Given the description of an element on the screen output the (x, y) to click on. 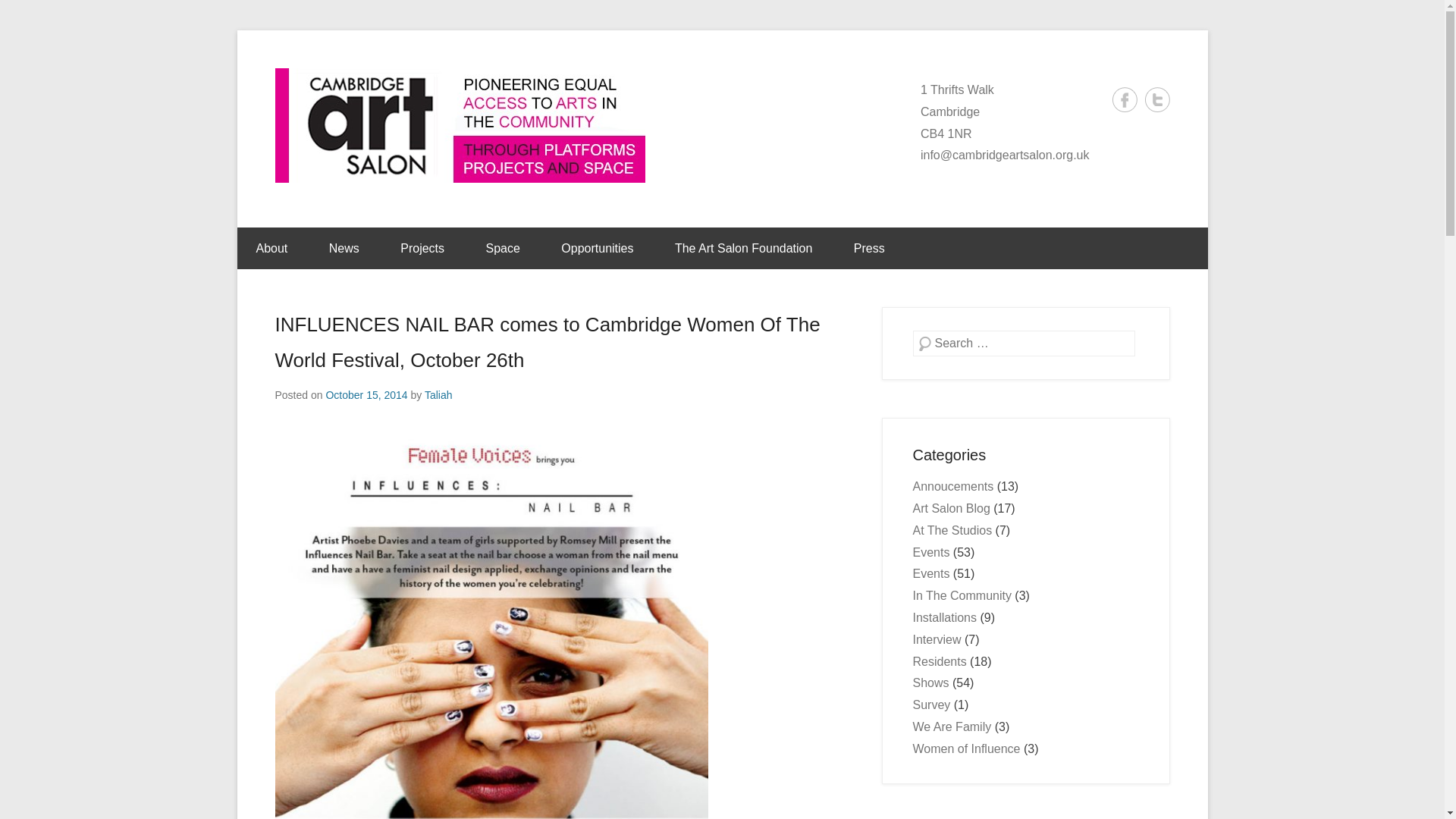
Space (501, 248)
Opportunities (596, 248)
Twitter (1157, 99)
News (344, 248)
About (270, 248)
Cambridge Art Salon (791, 89)
Twitter (1157, 99)
Press (869, 248)
Cambridge Art Salon (791, 89)
Facebook (1124, 99)
View all posts by Taliah (438, 395)
Projects (422, 248)
Facebook (1124, 99)
7:27 pm (365, 395)
